Given the description of an element on the screen output the (x, y) to click on. 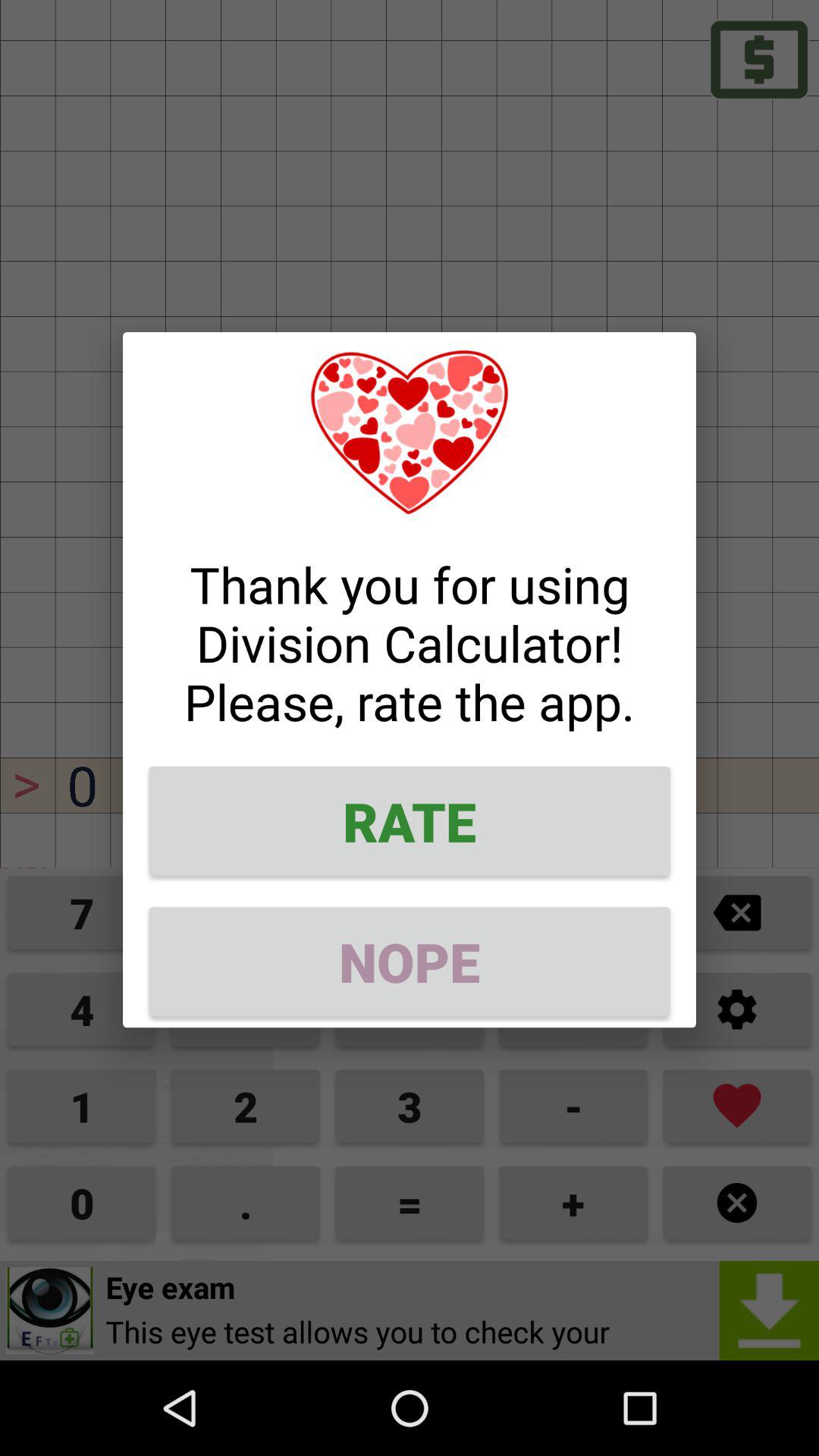
flip until the nope item (409, 961)
